Given the description of an element on the screen output the (x, y) to click on. 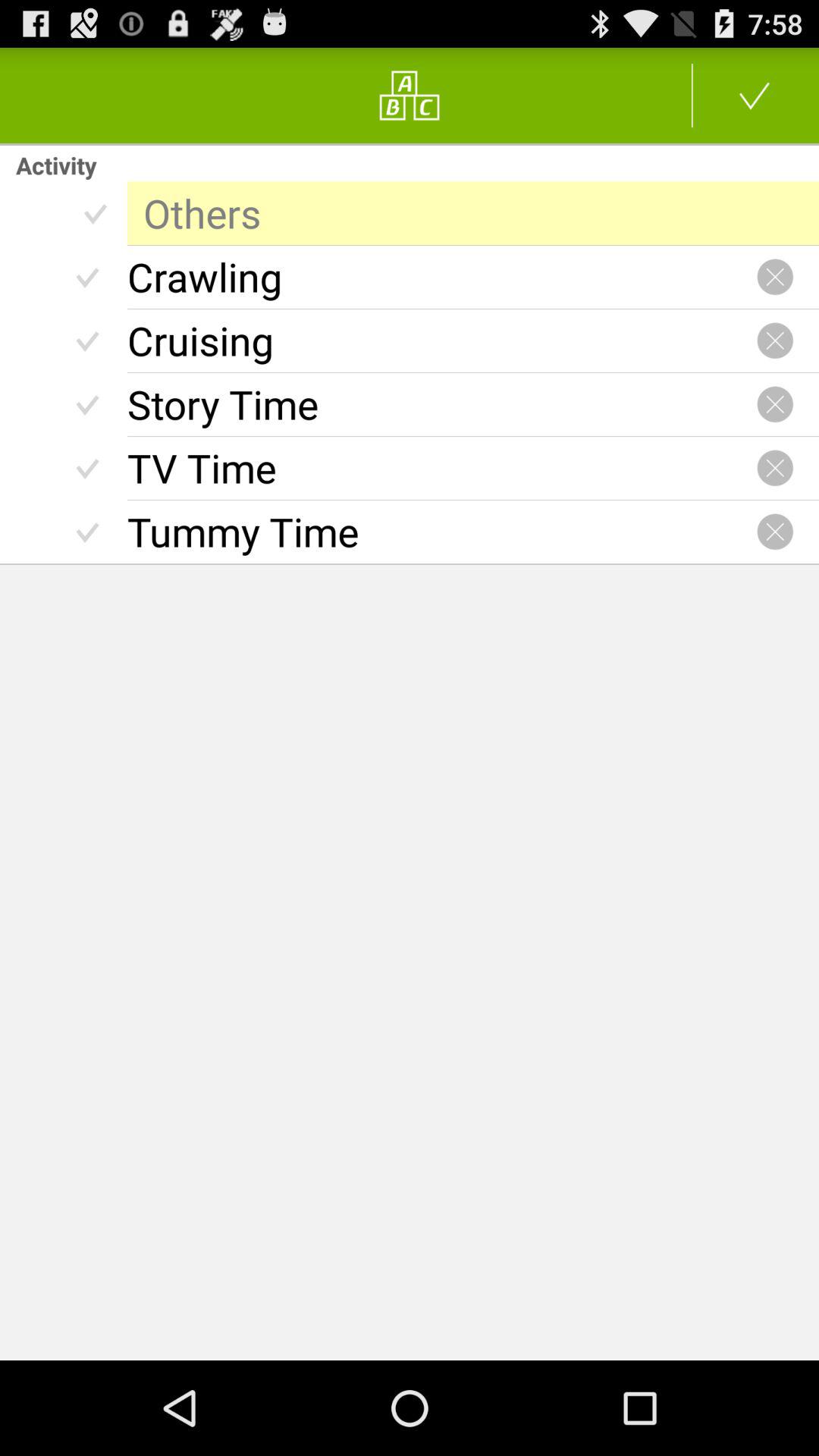
launch tummy time icon (441, 531)
